Given the description of an element on the screen output the (x, y) to click on. 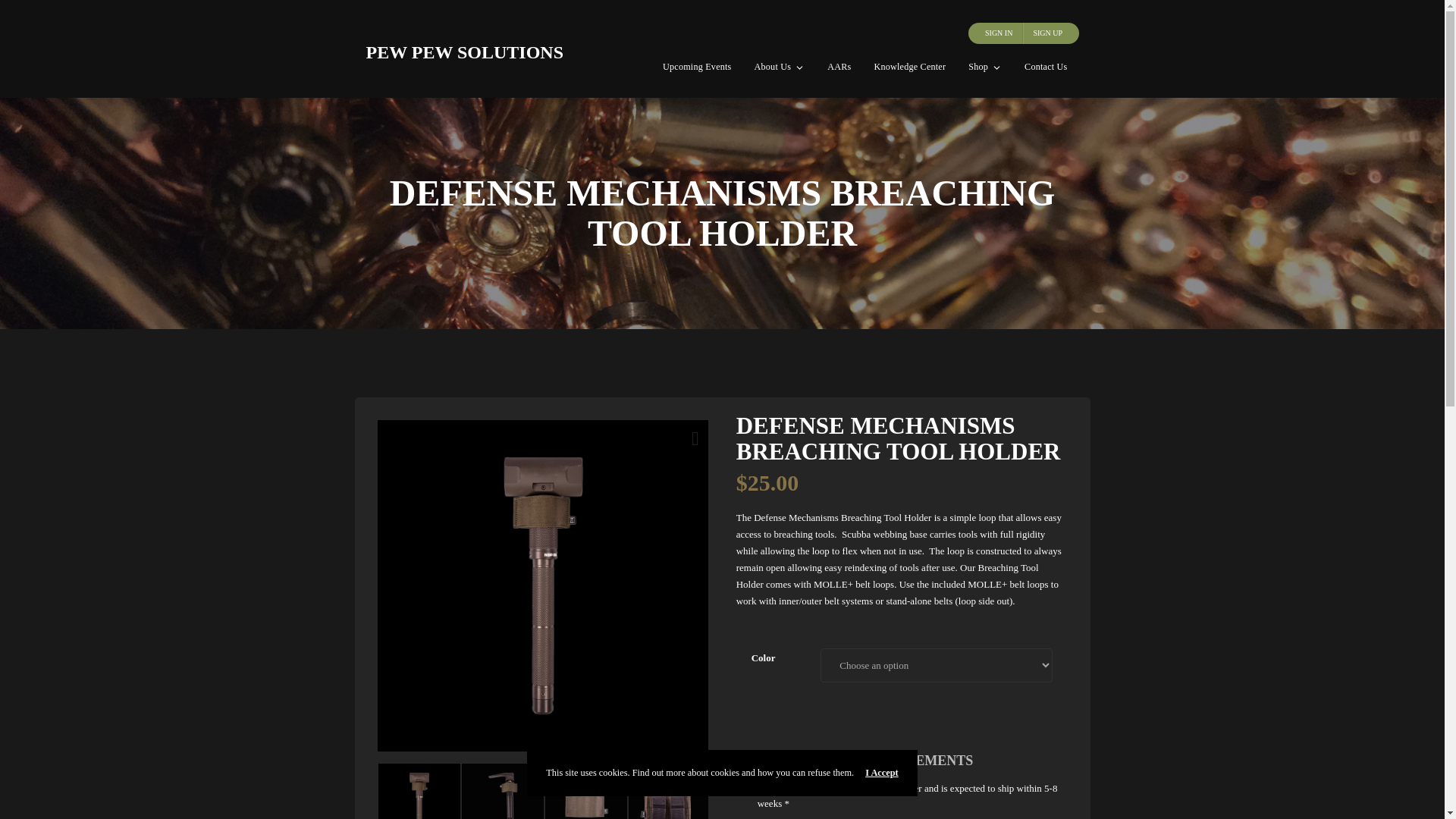
Shop (984, 66)
AARs (838, 66)
SIGN UP (1047, 33)
Upcoming Events (696, 66)
Knowledge Center (908, 66)
About Us (779, 66)
PEW PEW SOLUTIONS (464, 51)
Contact Us (1045, 66)
SIGN IN (998, 33)
